Given the description of an element on the screen output the (x, y) to click on. 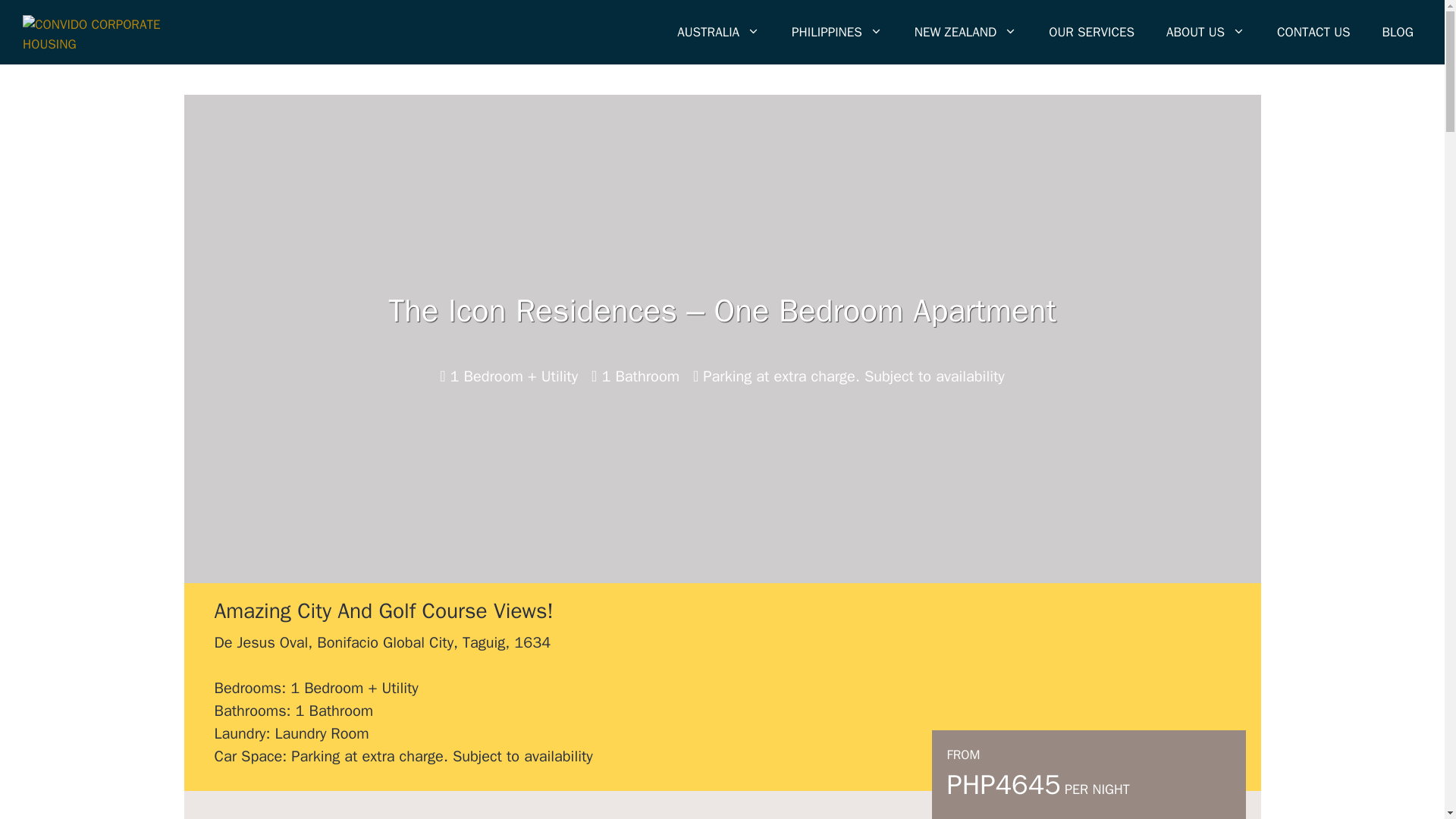
Convido Corporate Housing (95, 31)
AUSTRALIA (718, 31)
